Given the description of an element on the screen output the (x, y) to click on. 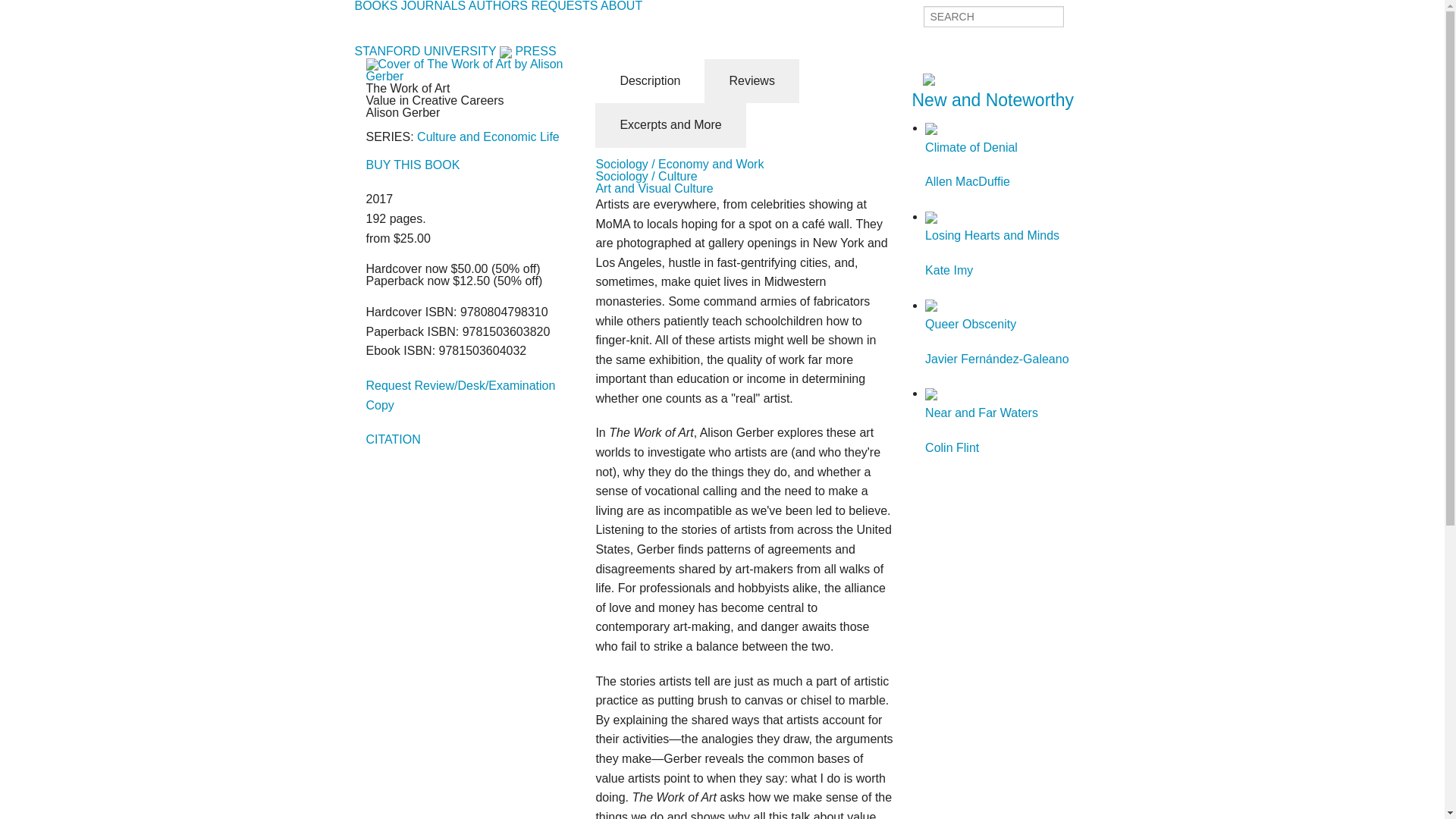
STANFORD UNIVERSITY PRESS (455, 51)
Art and Visual Culture (1012, 156)
AUTHORS (670, 125)
Culture and Economic Life (654, 187)
REQUESTS (497, 6)
CITATION (487, 136)
ABOUT (563, 6)
Description (392, 439)
Reviews (620, 6)
BOOKS (649, 81)
New and Noteworthy (750, 81)
JOURNALS (376, 6)
BUY THIS BOOK (992, 99)
